Given the description of an element on the screen output the (x, y) to click on. 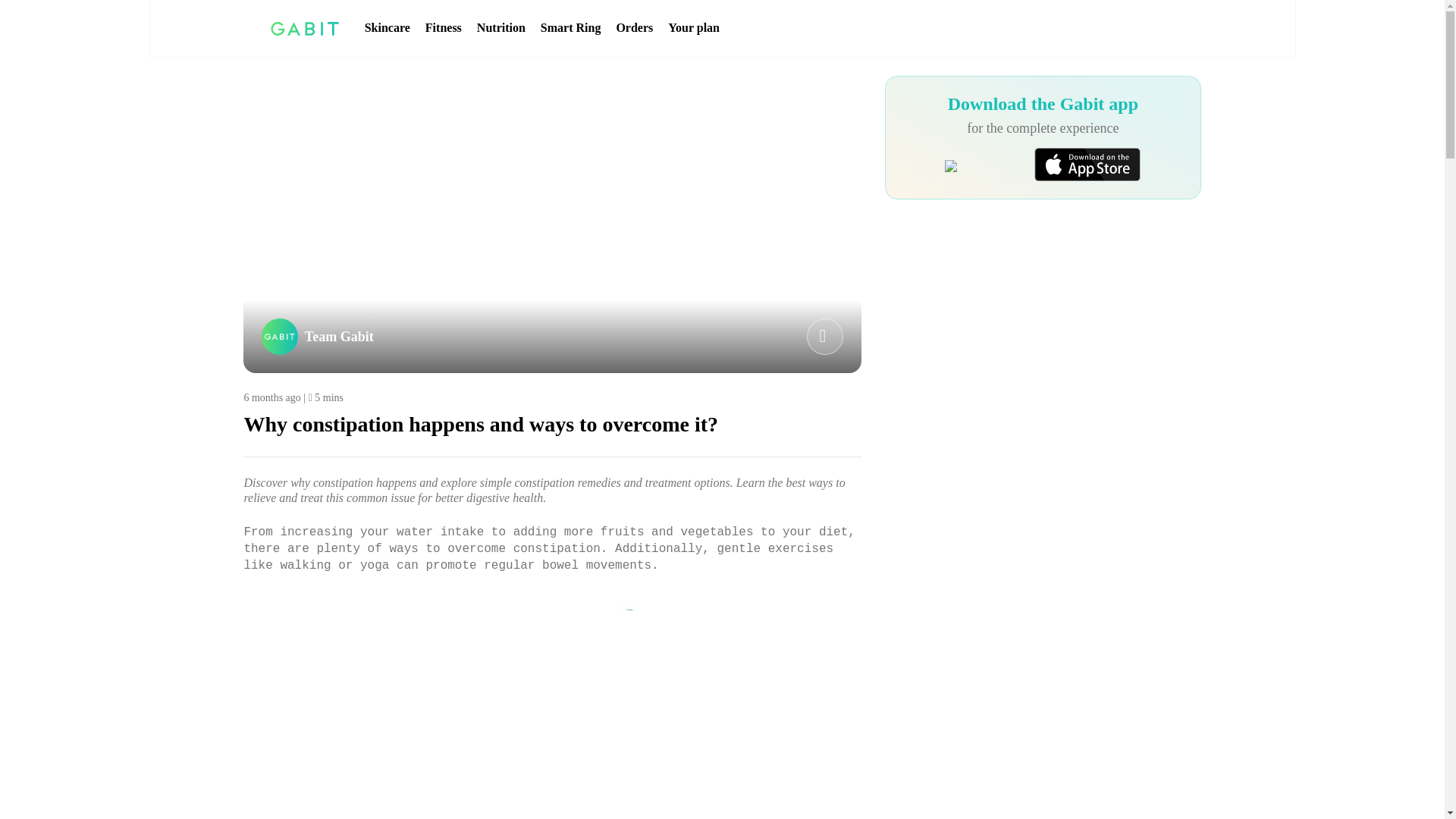
Fitness (443, 27)
Smart Ring (570, 27)
Orders (633, 27)
Skincare (387, 27)
Nutrition (501, 27)
Your plan (693, 27)
